Given the description of an element on the screen output the (x, y) to click on. 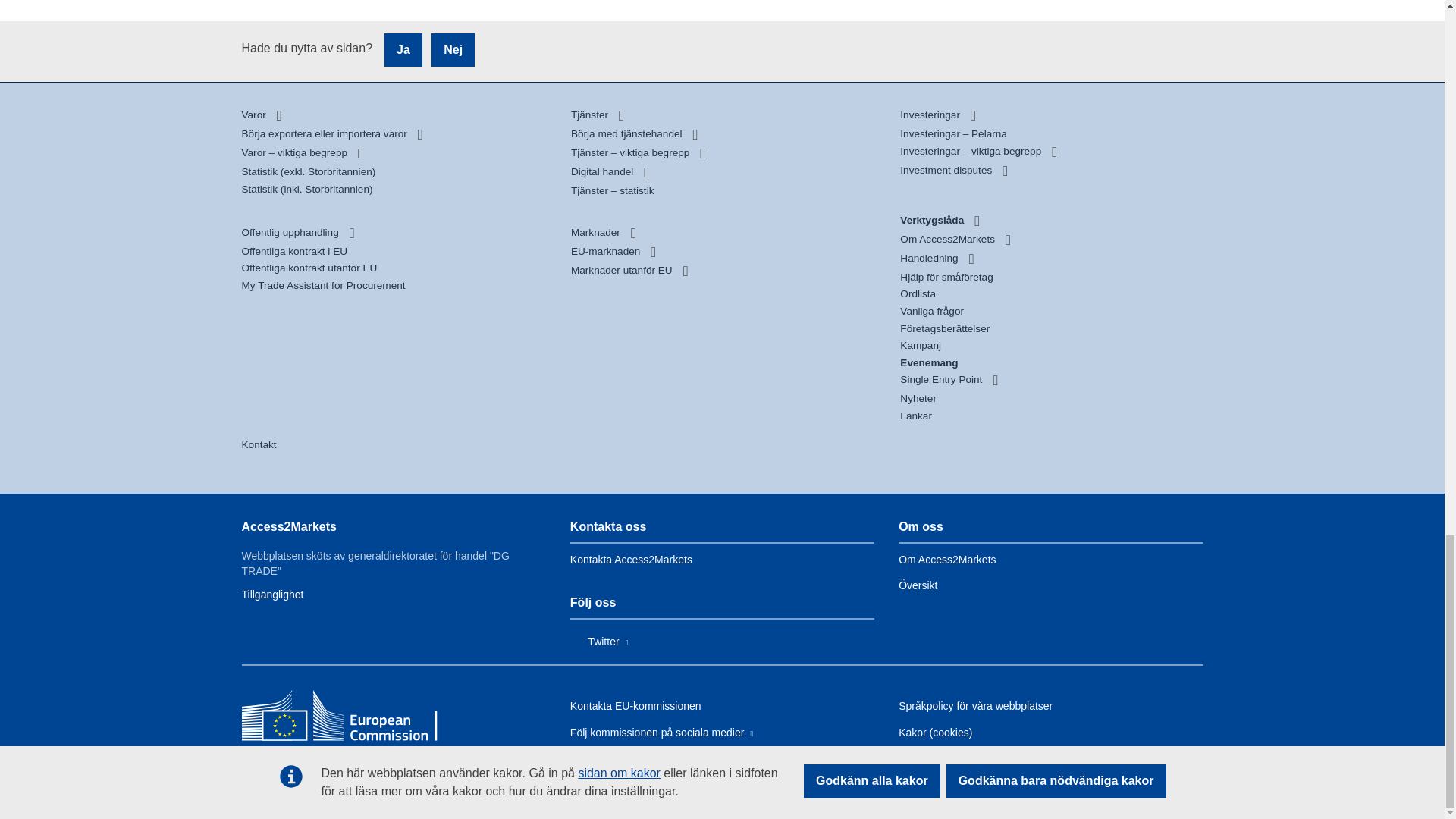
European Commission (351, 717)
